Given the description of an element on the screen output the (x, y) to click on. 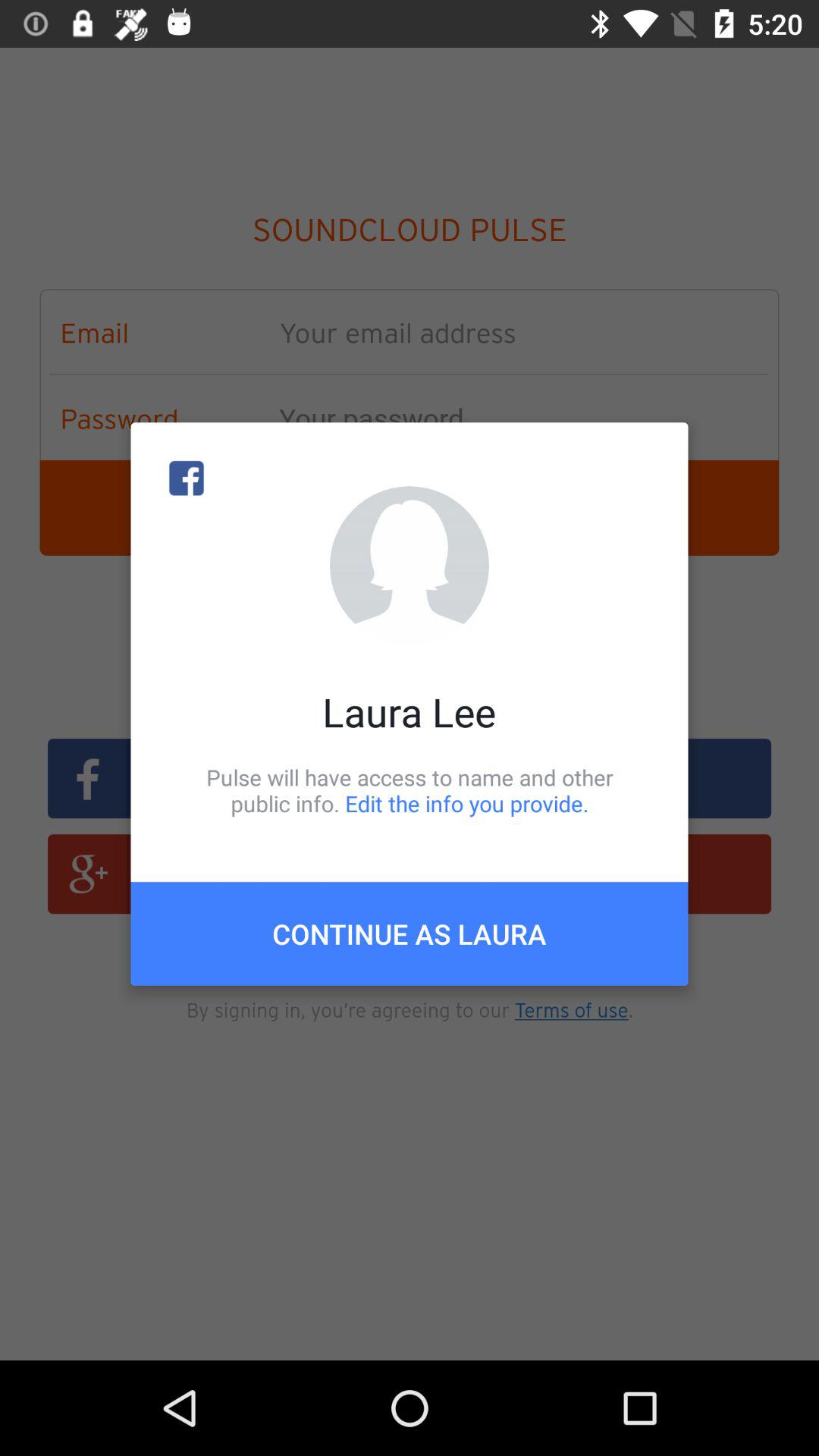
jump to pulse will have item (409, 790)
